Given the description of an element on the screen output the (x, y) to click on. 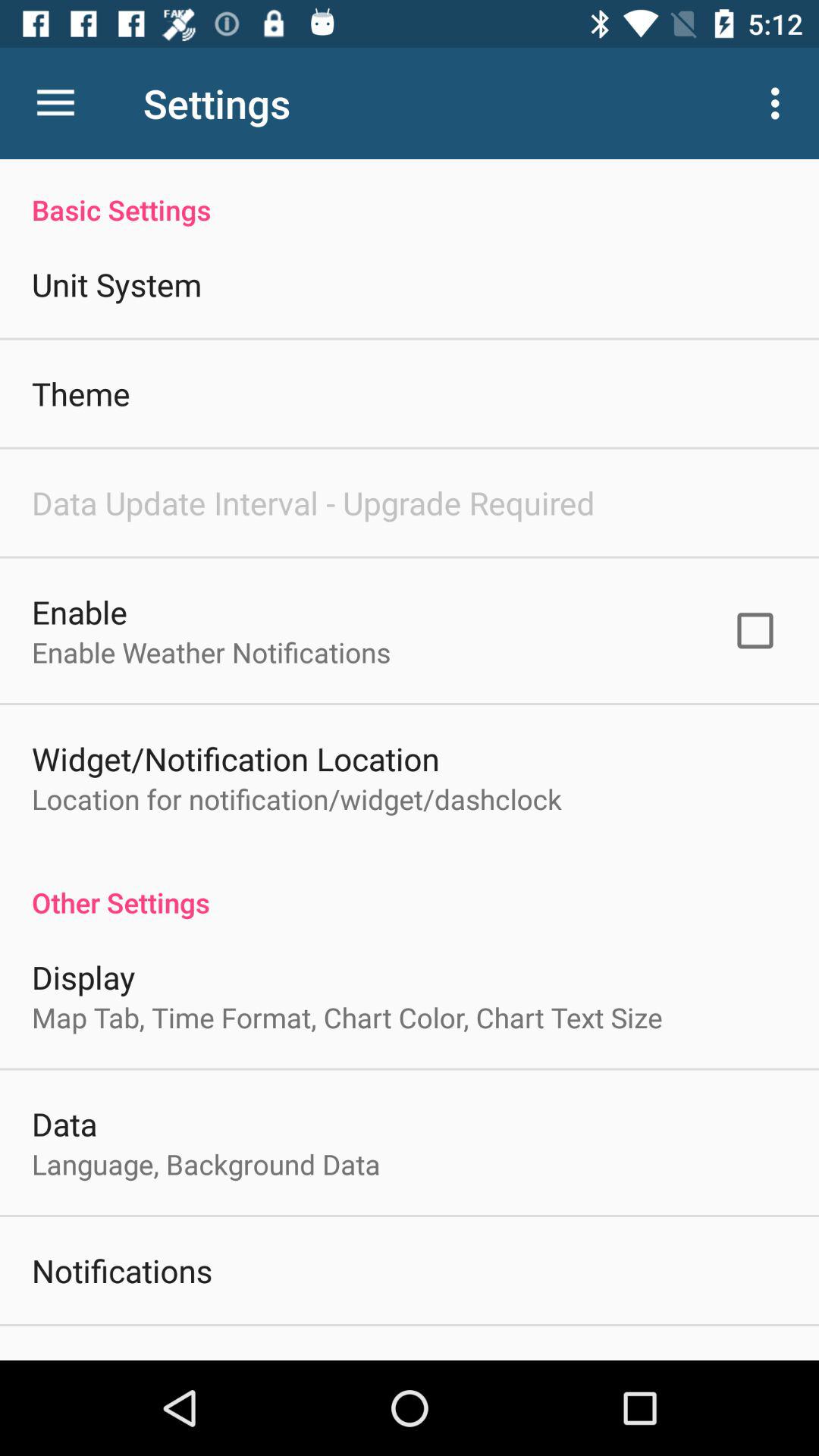
press item above the display (409, 886)
